Given the description of an element on the screen output the (x, y) to click on. 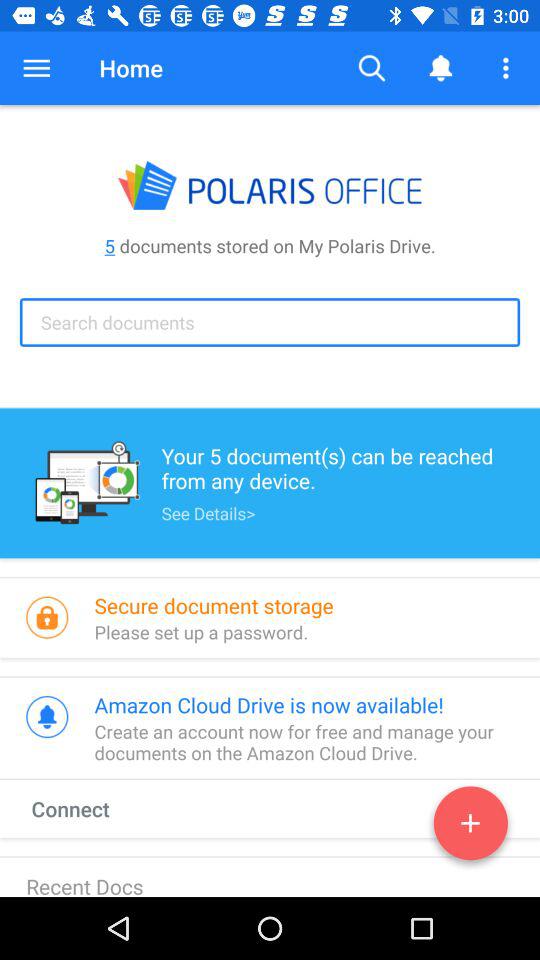
click icon next to home item (36, 68)
